Given the description of an element on the screen output the (x, y) to click on. 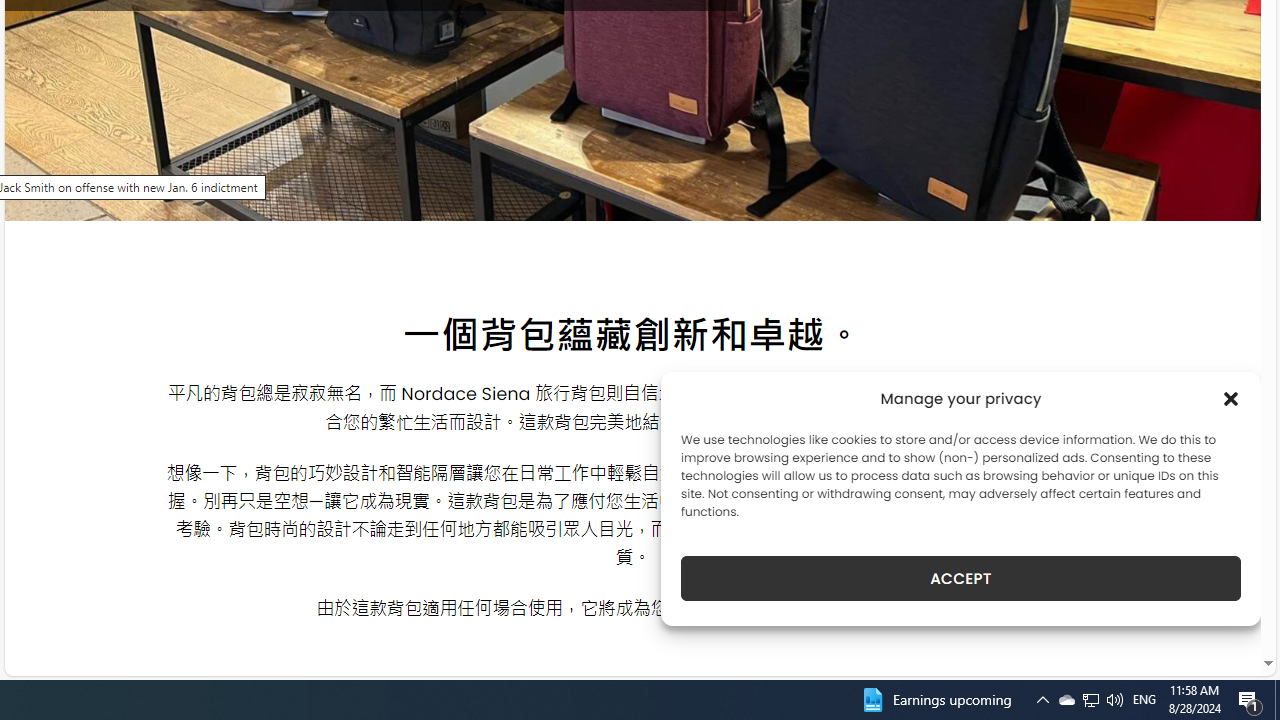
Class: cmplz-close (1231, 398)
ACCEPT (960, 578)
